Given the description of an element on the screen output the (x, y) to click on. 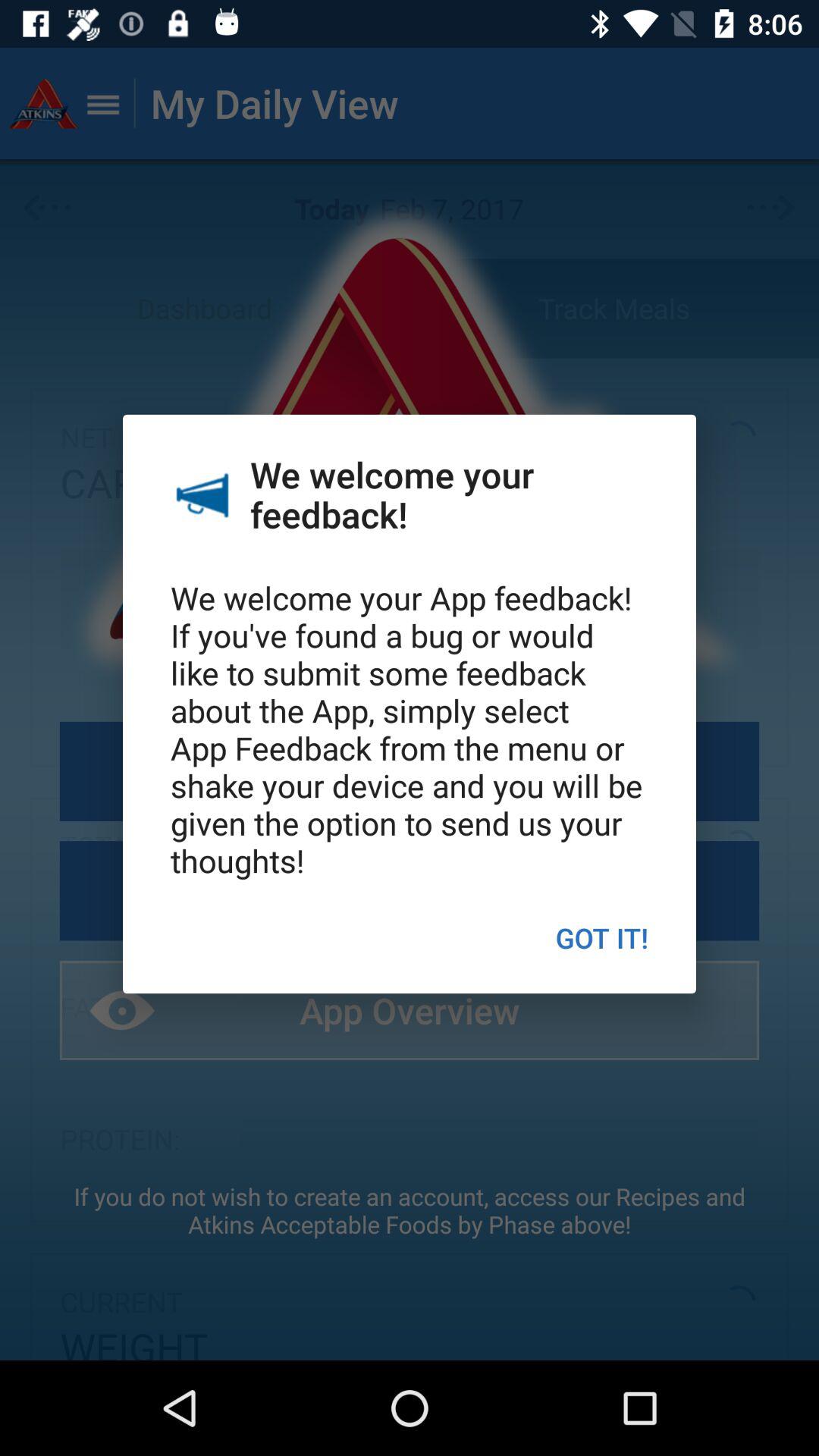
press the item below the we welcome your icon (601, 937)
